Given the description of an element on the screen output the (x, y) to click on. 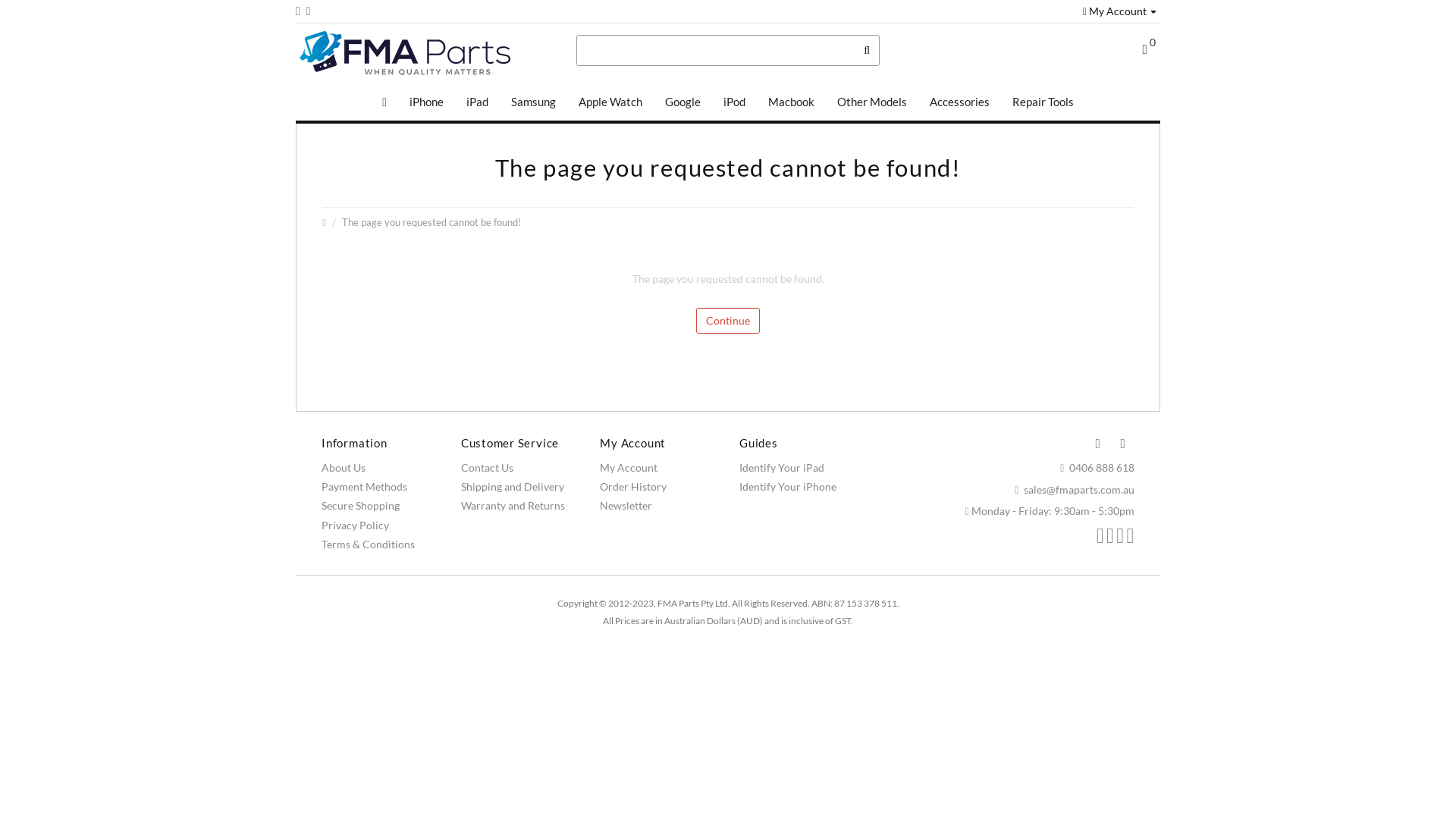
Repair Tools Element type: text (1043, 101)
iPhone Element type: text (426, 101)
Privacy Policy Element type: text (355, 524)
Home Element type: hover (384, 101)
Identify Your iPad Element type: text (781, 467)
Shipping and Delivery Element type: text (512, 486)
Secure Shopping Element type: text (360, 504)
Other Models Element type: text (871, 101)
Macbook Element type: text (790, 101)
Google Element type: text (682, 101)
Identify Your iPhone Element type: text (787, 486)
About Us Element type: text (343, 467)
Accessories Element type: text (959, 101)
The page you requested cannot be found! Element type: text (431, 222)
iPod Element type: text (734, 101)
Contact Us Element type: text (487, 467)
Order History Element type: text (632, 486)
Payment Methods Element type: text (364, 486)
Terms & Conditions Element type: text (367, 543)
Apple Watch Element type: text (610, 101)
My Account Element type: text (628, 467)
Samsung Element type: text (533, 101)
Warranty and Returns Element type: text (512, 504)
iPad Element type: text (477, 101)
Continue Element type: text (727, 320)
Newsletter Element type: text (625, 504)
0 Element type: text (1148, 49)
My Account Element type: text (1119, 10)
